Given the description of an element on the screen output the (x, y) to click on. 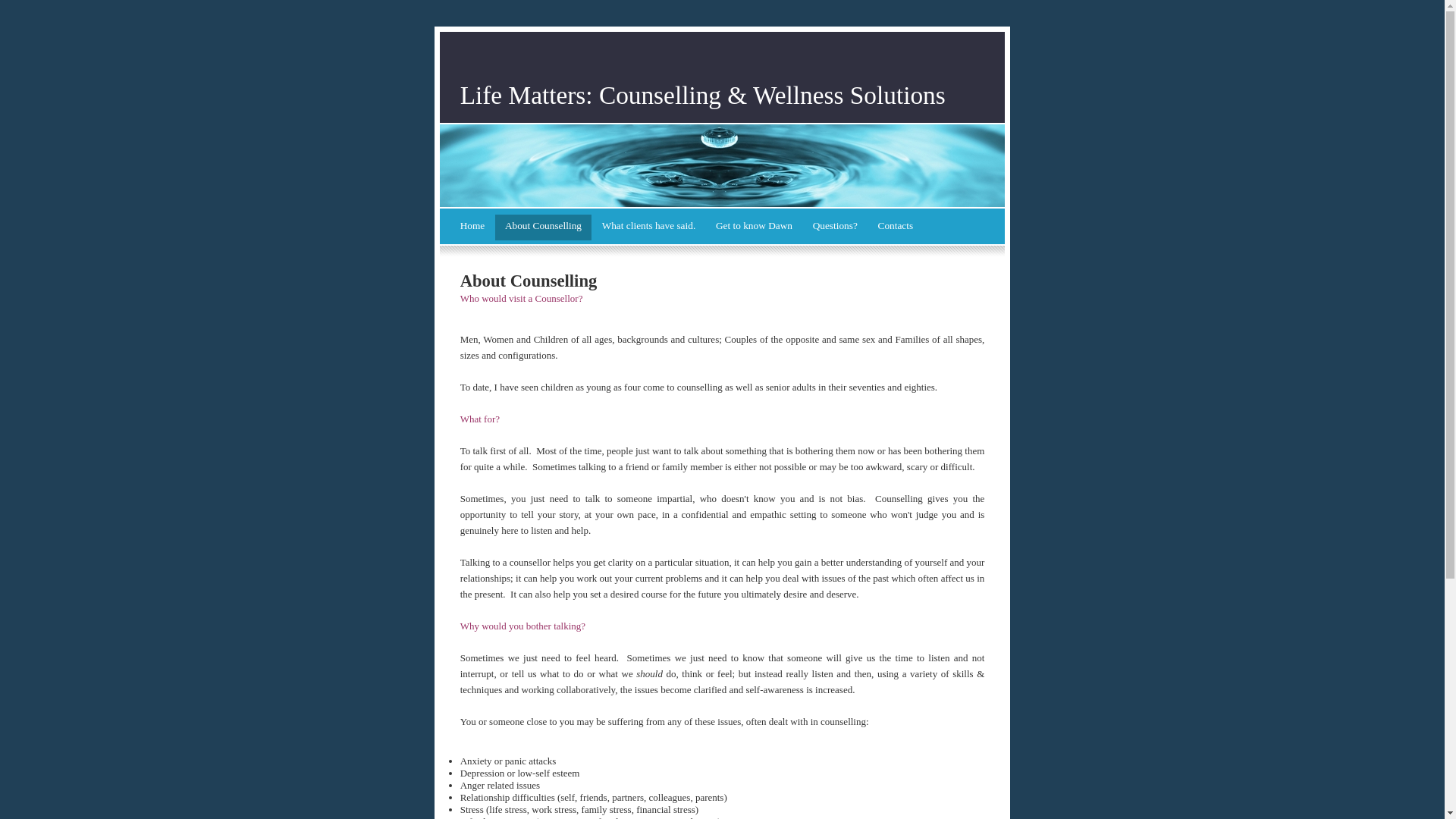
Contacts Element type: text (894, 227)
Home Element type: text (471, 227)
Get to know Dawn Element type: text (754, 227)
Questions? Element type: text (834, 227)
What clients have said. Element type: text (648, 227)
About Counselling Element type: text (543, 227)
